Given the description of an element on the screen output the (x, y) to click on. 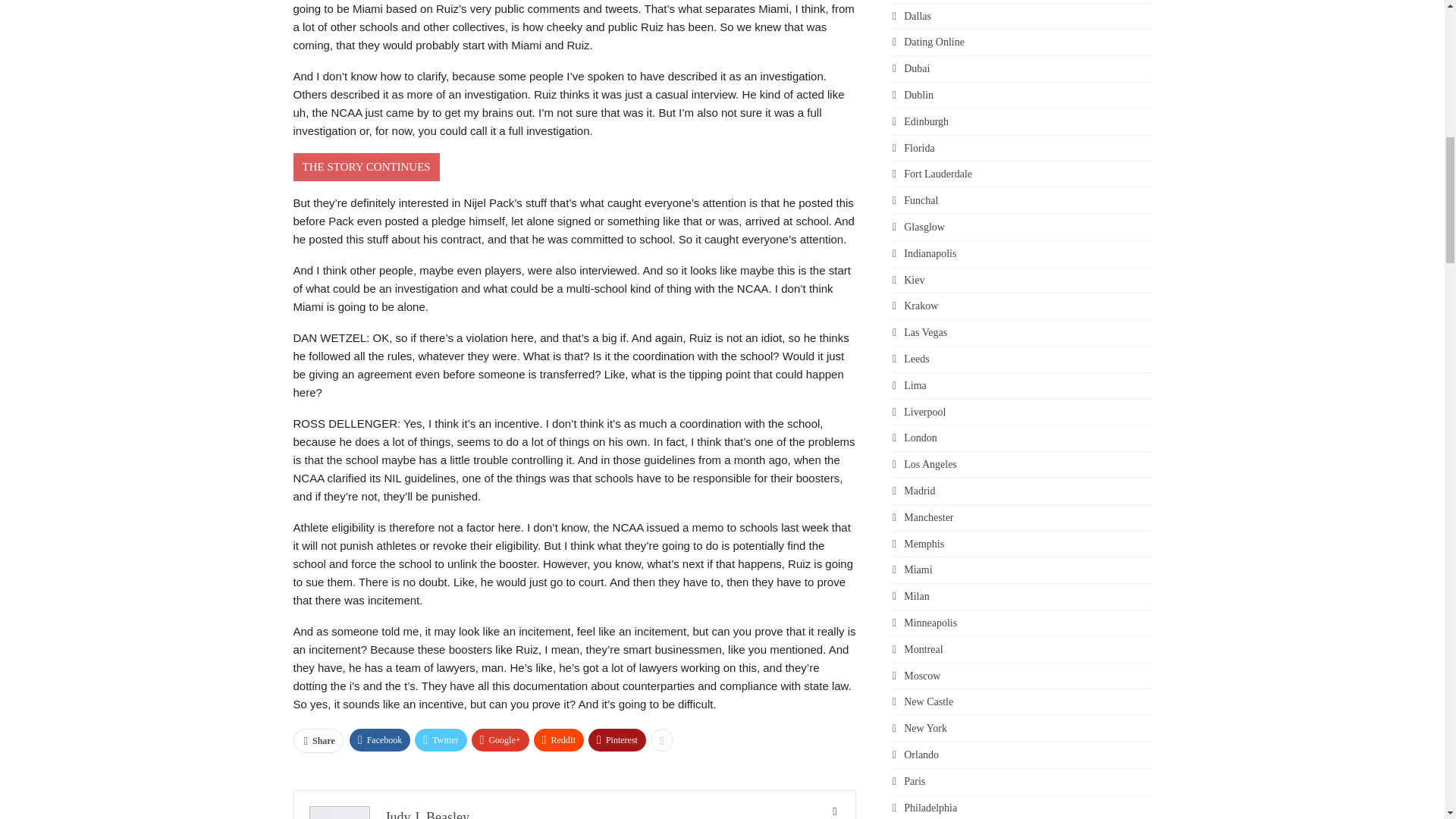
THE STORY CONTINUES (365, 166)
Judy J. Beasley (427, 814)
ReddIt (559, 739)
Facebook (379, 739)
Pinterest (617, 739)
Twitter (439, 739)
